Given the description of an element on the screen output the (x, y) to click on. 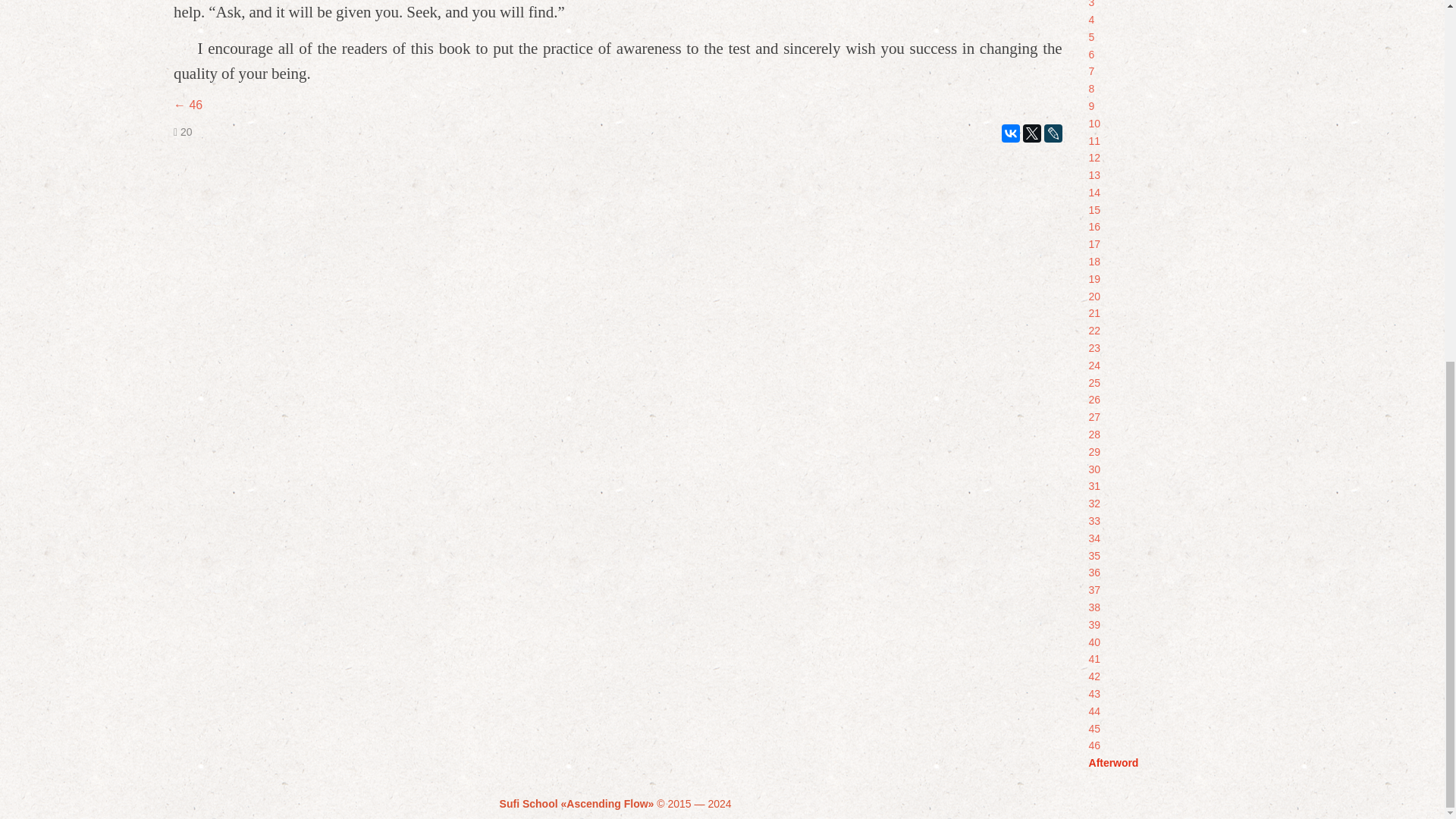
20 views (182, 132)
Twitter (1032, 133)
46 (187, 104)
LiveJournal (1052, 133)
